Given the description of an element on the screen output the (x, y) to click on. 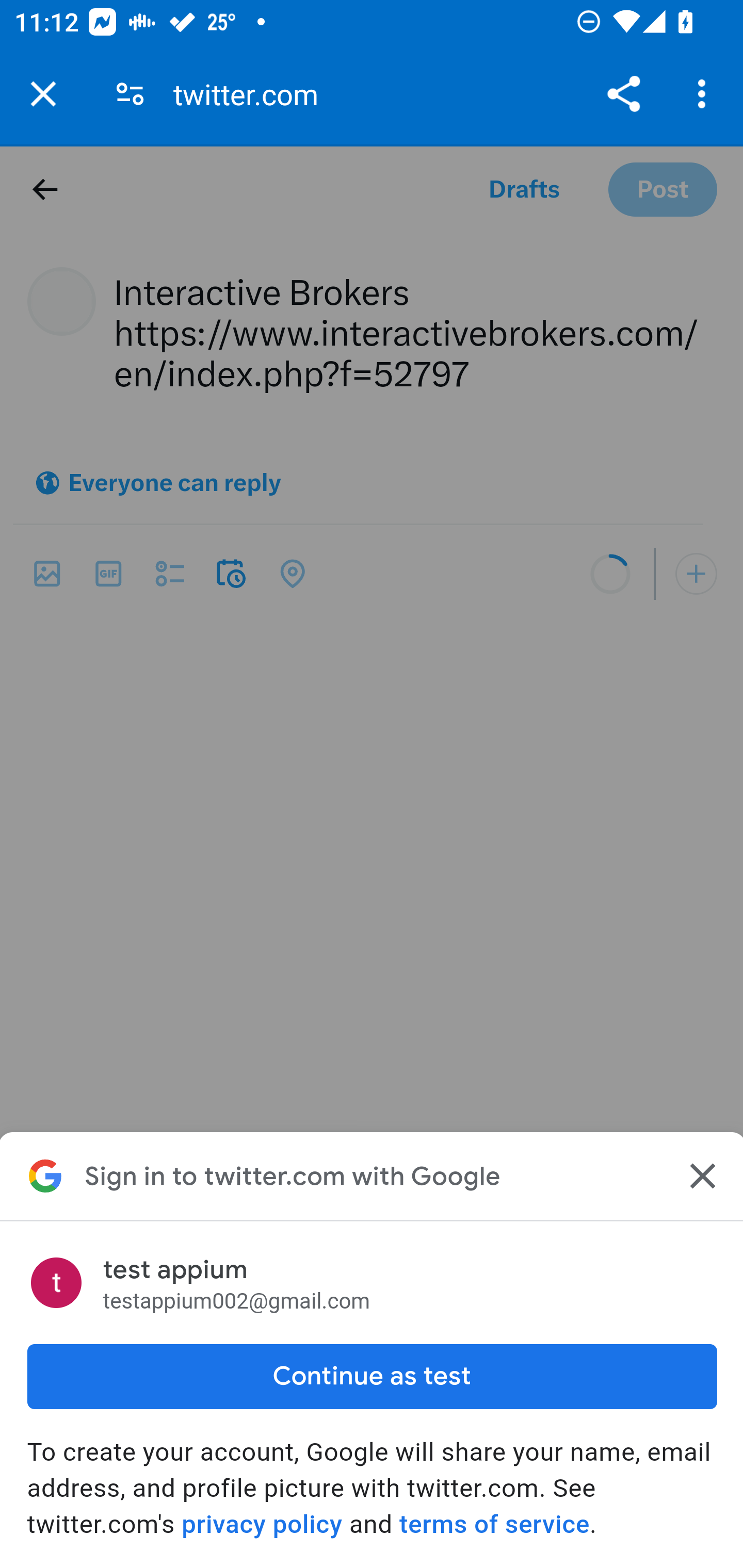
Close tab (43, 93)
Share (623, 93)
Customize and control Google Chrome (705, 93)
Connection is secure (129, 93)
twitter.com (252, 93)
Close (700, 1175)
Continue as test (371, 1376)
privacy policy (261, 1523)
terms of service (493, 1523)
